Given the description of an element on the screen output the (x, y) to click on. 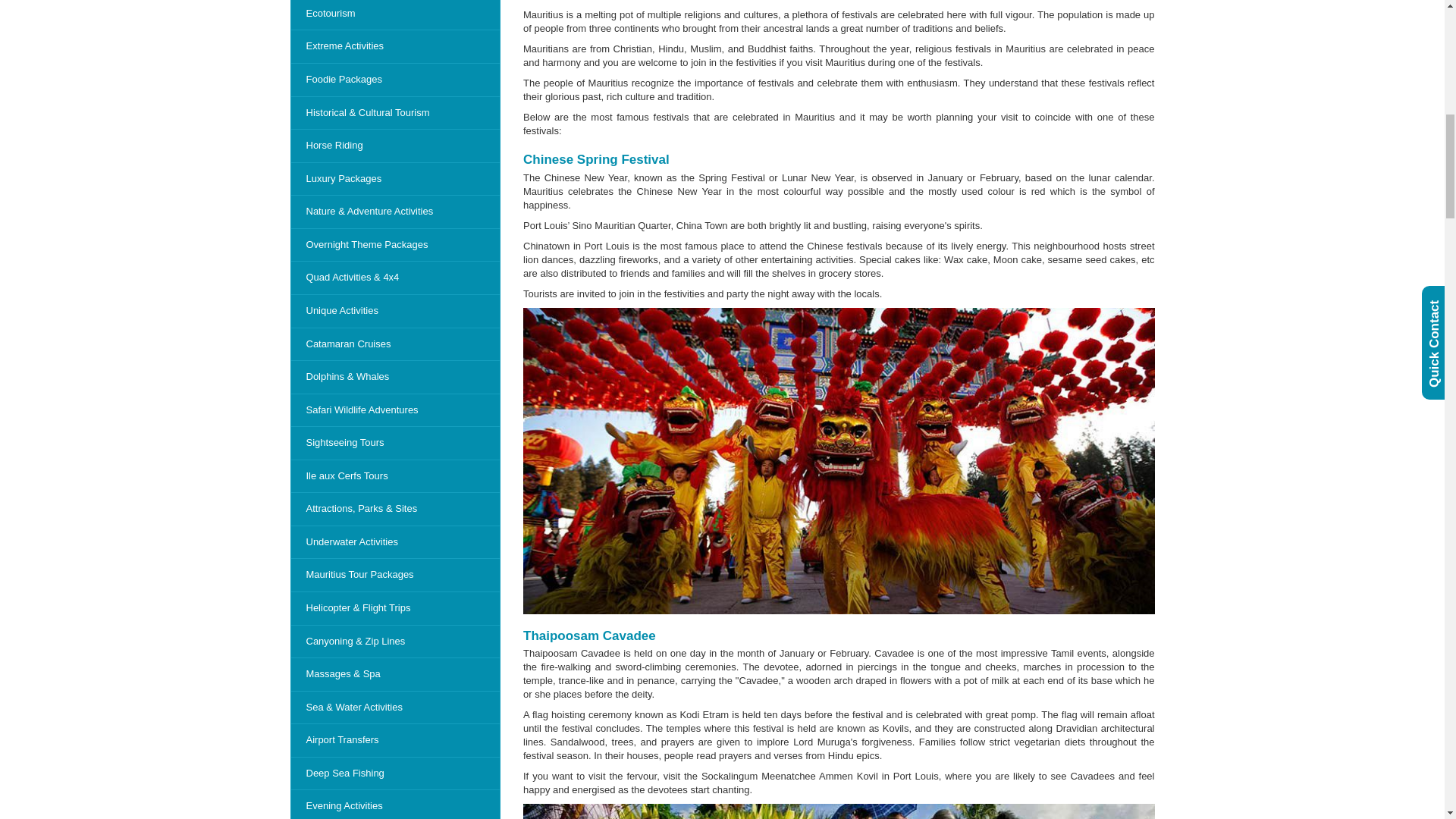
Mauritius Swimming with Dolphins and Whales Watching (394, 376)
Horse Riding (394, 145)
Overnight Theme Packages (394, 245)
Mauritius Extreme Activities (394, 46)
Mauritius Catamaran Sailing Cruises (394, 344)
Mauritius Safari, Animals and Wildlife Activities (394, 410)
Ile aux Cerfs Tours - Island of Ile aux Cerfs (394, 476)
Foodie Packages (394, 80)
Mauritius Sightseeing Tours (394, 442)
Mauritius Attractions - Parks, Reserves and Sites (394, 509)
Ecotourism (394, 15)
Mauritius Luxury packages and Luxurious VIP Activities (394, 179)
Unique Activities (394, 311)
